Given the description of an element on the screen output the (x, y) to click on. 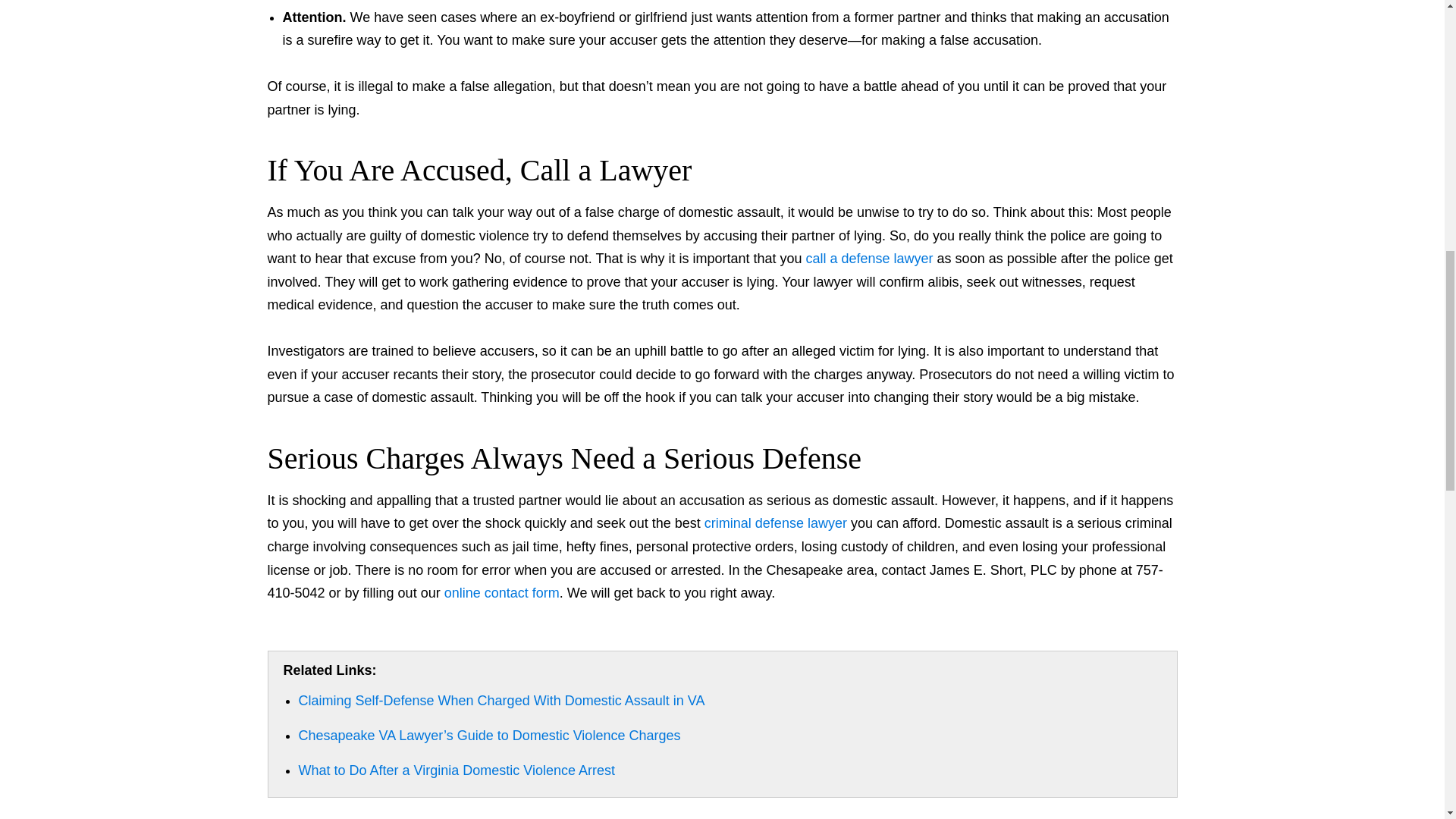
online contact form (501, 592)
call a defense lawyer (869, 258)
What to Do After a Virginia Domestic Violence Arrest (456, 770)
criminal defense lawyer (775, 522)
